Given the description of an element on the screen output the (x, y) to click on. 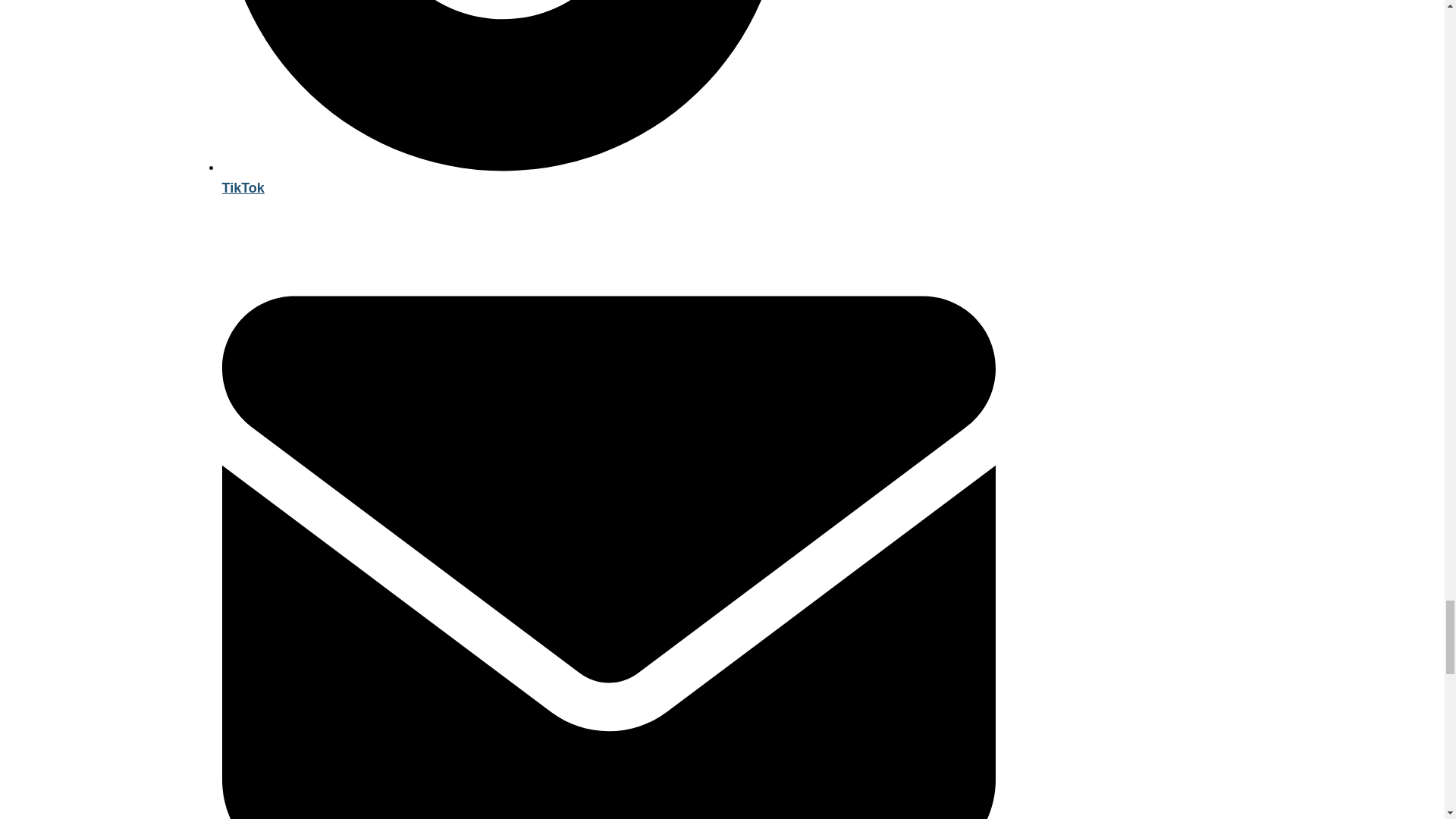
TikTok (607, 177)
